Given the description of an element on the screen output the (x, y) to click on. 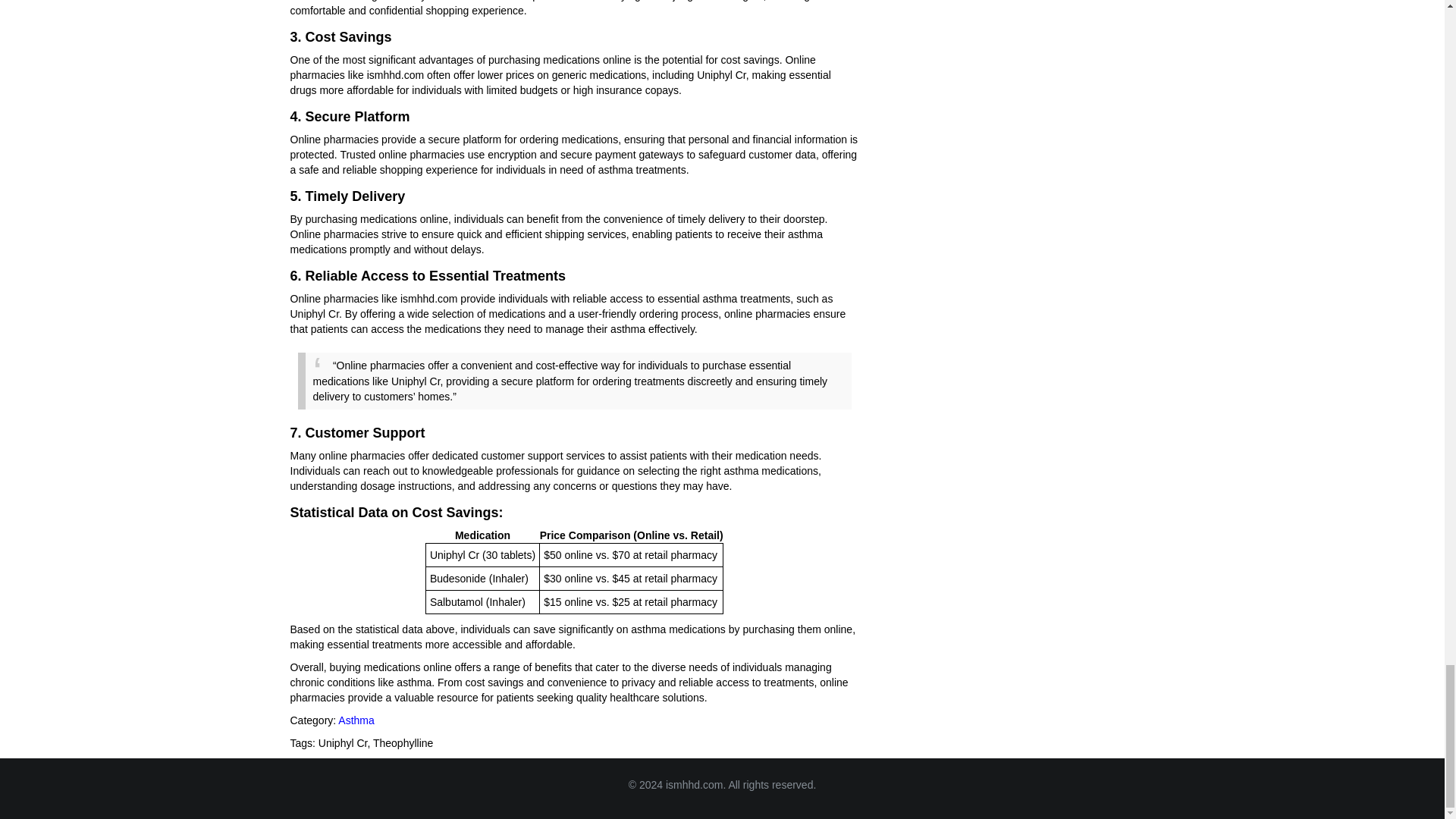
Asthma (355, 720)
